Given the description of an element on the screen output the (x, y) to click on. 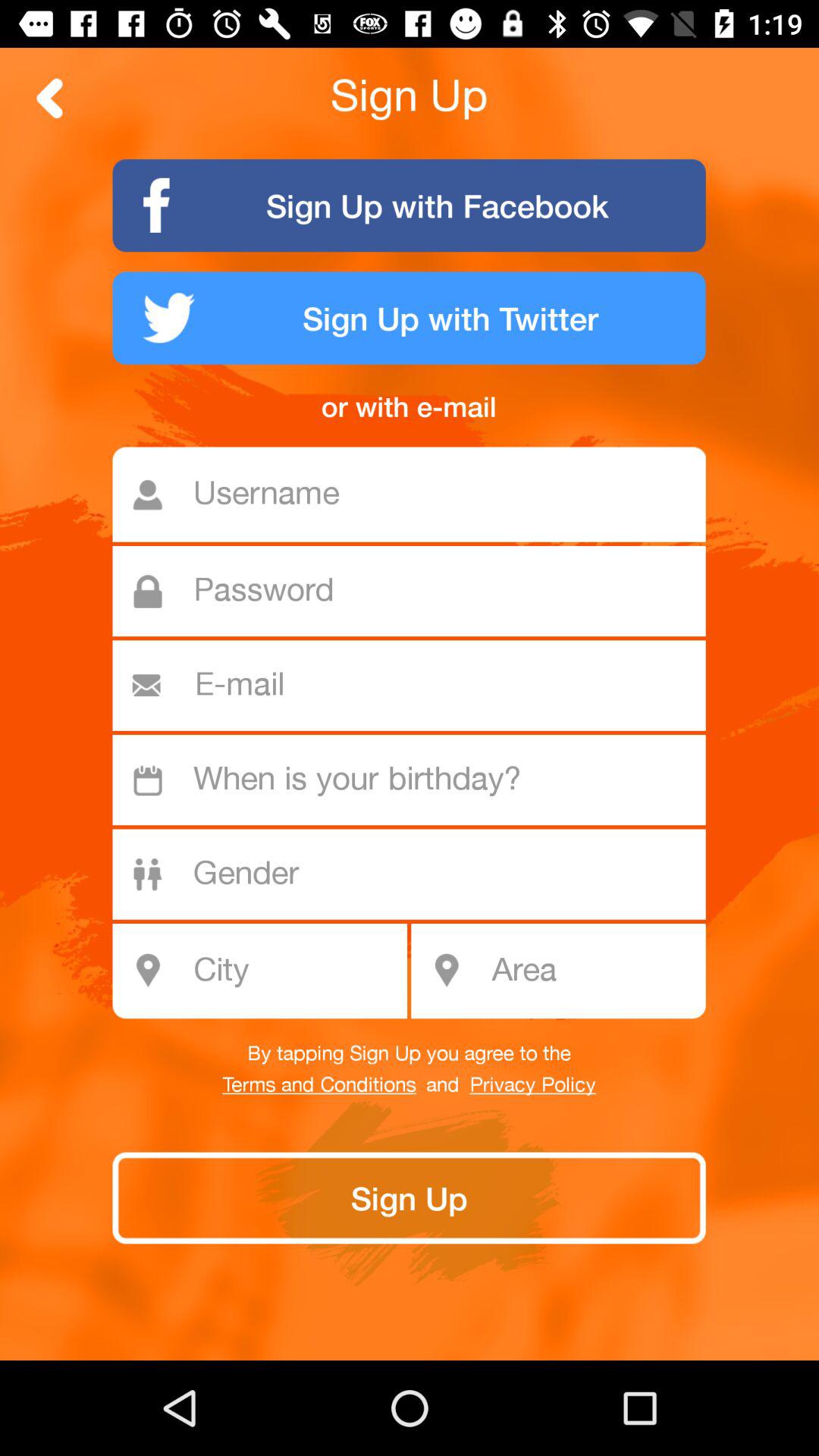
launch privacy policy icon (532, 1085)
